Given the description of an element on the screen output the (x, y) to click on. 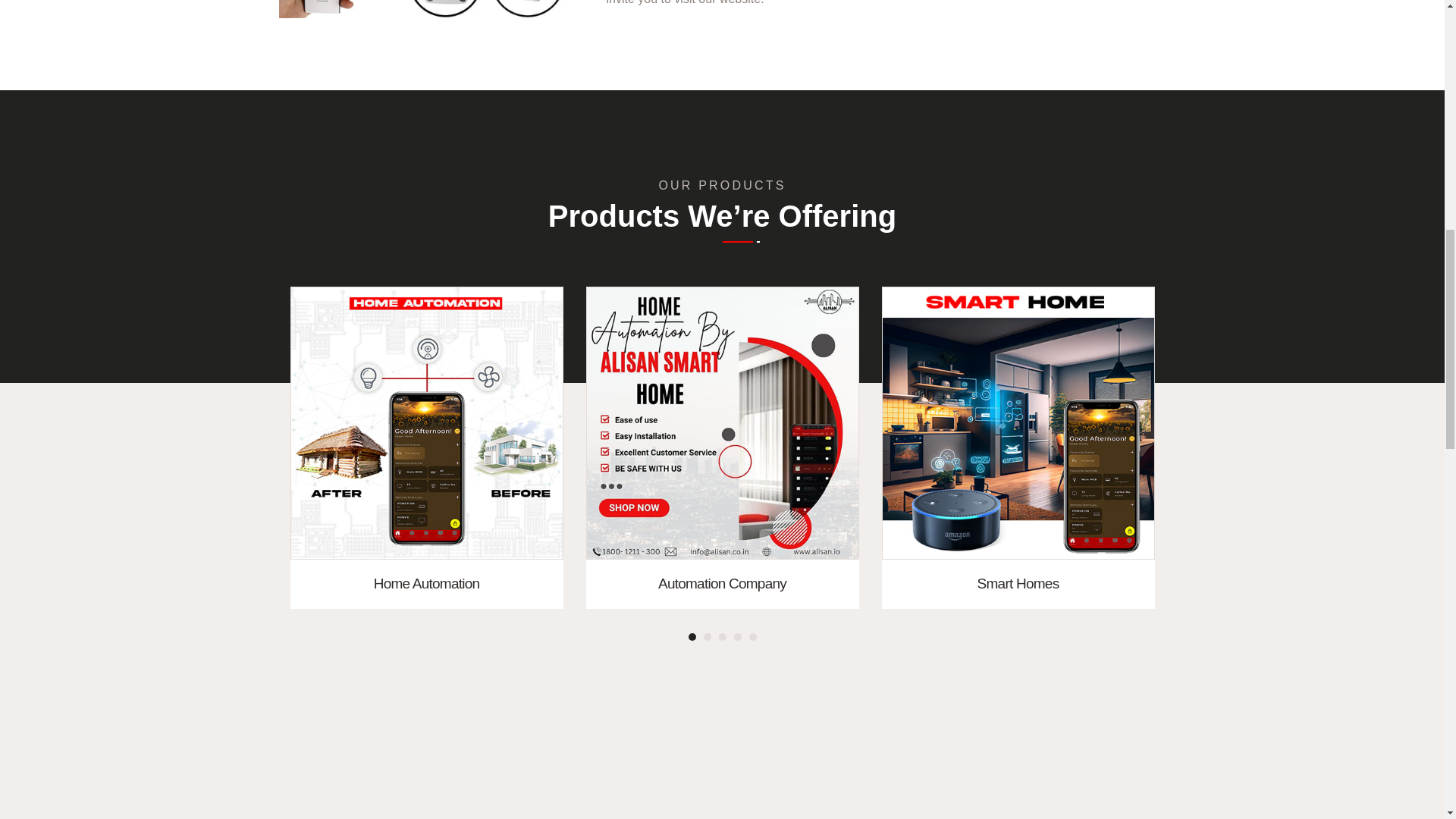
Smart Homes (1018, 422)
Home Automation (426, 422)
Automation Company (722, 422)
Curtain Motor In Sikar (430, 9)
